Given the description of an element on the screen output the (x, y) to click on. 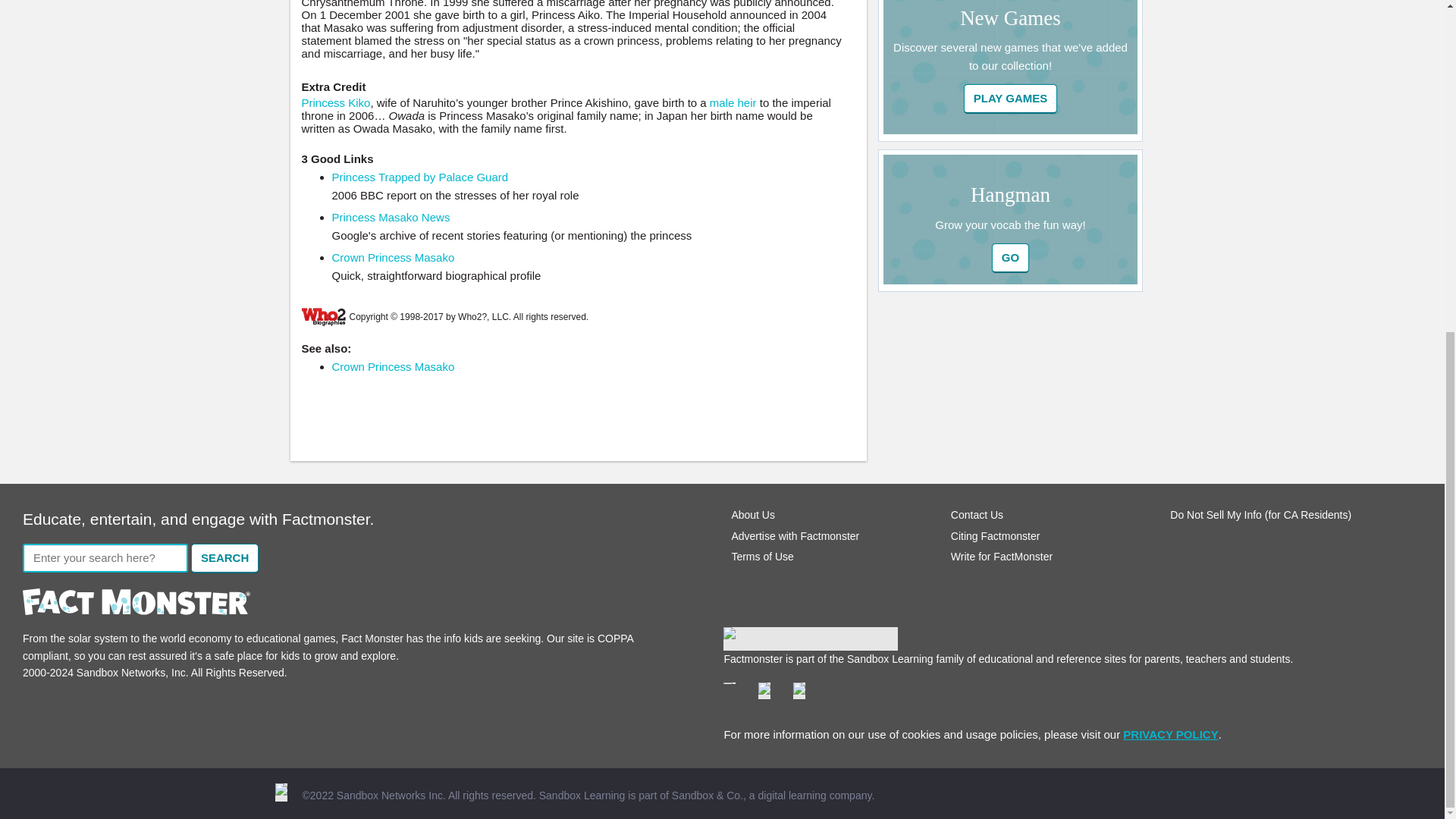
Search (224, 558)
Go (1010, 257)
About Us (752, 514)
Go (1010, 98)
Go (1010, 257)
Play Games (1010, 98)
